Given the description of an element on the screen output the (x, y) to click on. 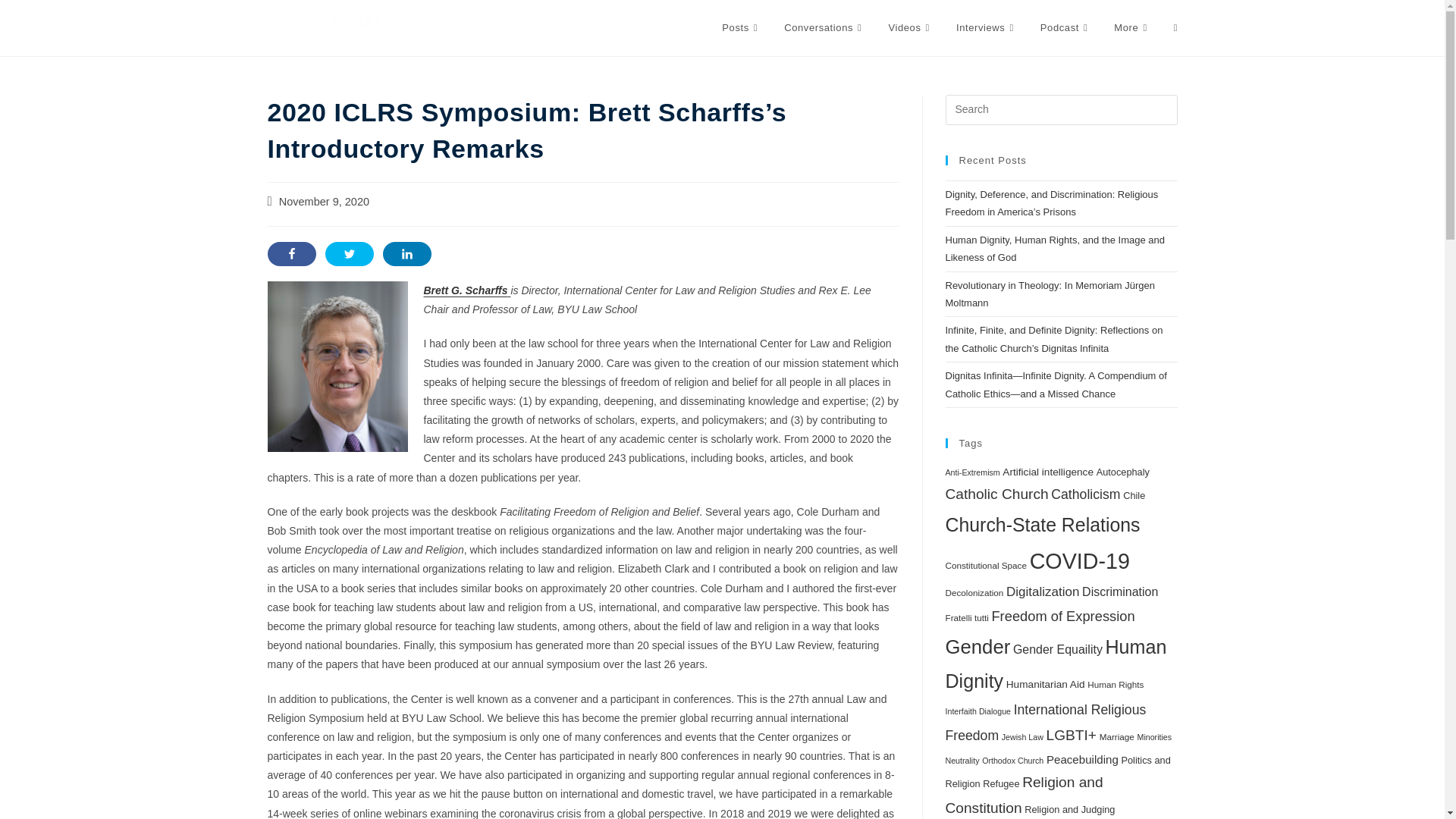
Videos (909, 28)
Interviews (986, 28)
Share on Facebook (290, 253)
Share on LinkedIn (405, 253)
Conversations (824, 28)
Posts (741, 28)
Share on Twitter (348, 253)
